Given the description of an element on the screen output the (x, y) to click on. 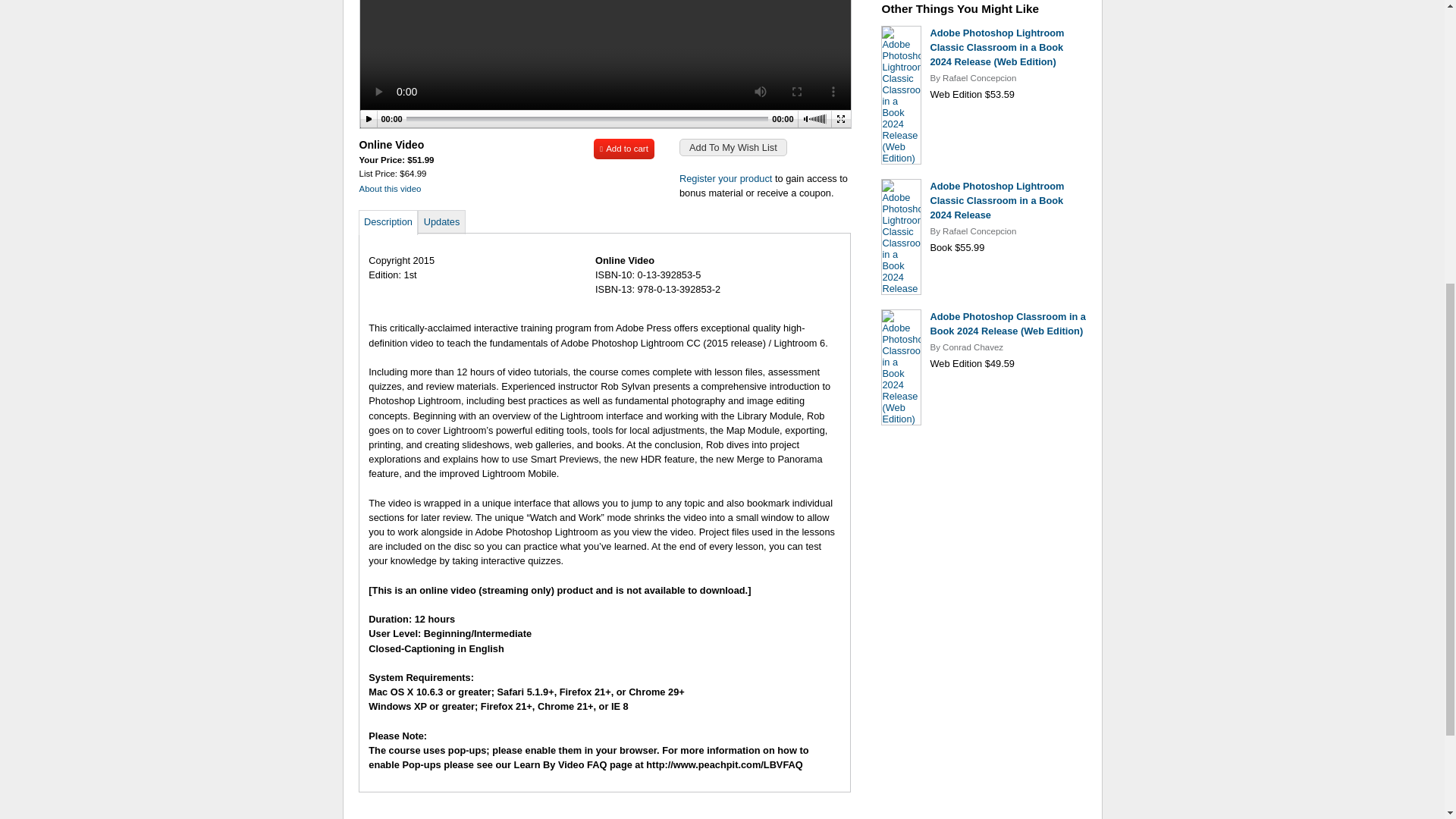
Description (388, 221)
About this video (390, 188)
Register your product (725, 178)
Updates (441, 221)
Add To My Wish List (733, 147)
Rafael Concepcion (979, 230)
Rafael Concepcion (979, 77)
Conrad Chavez (972, 347)
